Given the description of an element on the screen output the (x, y) to click on. 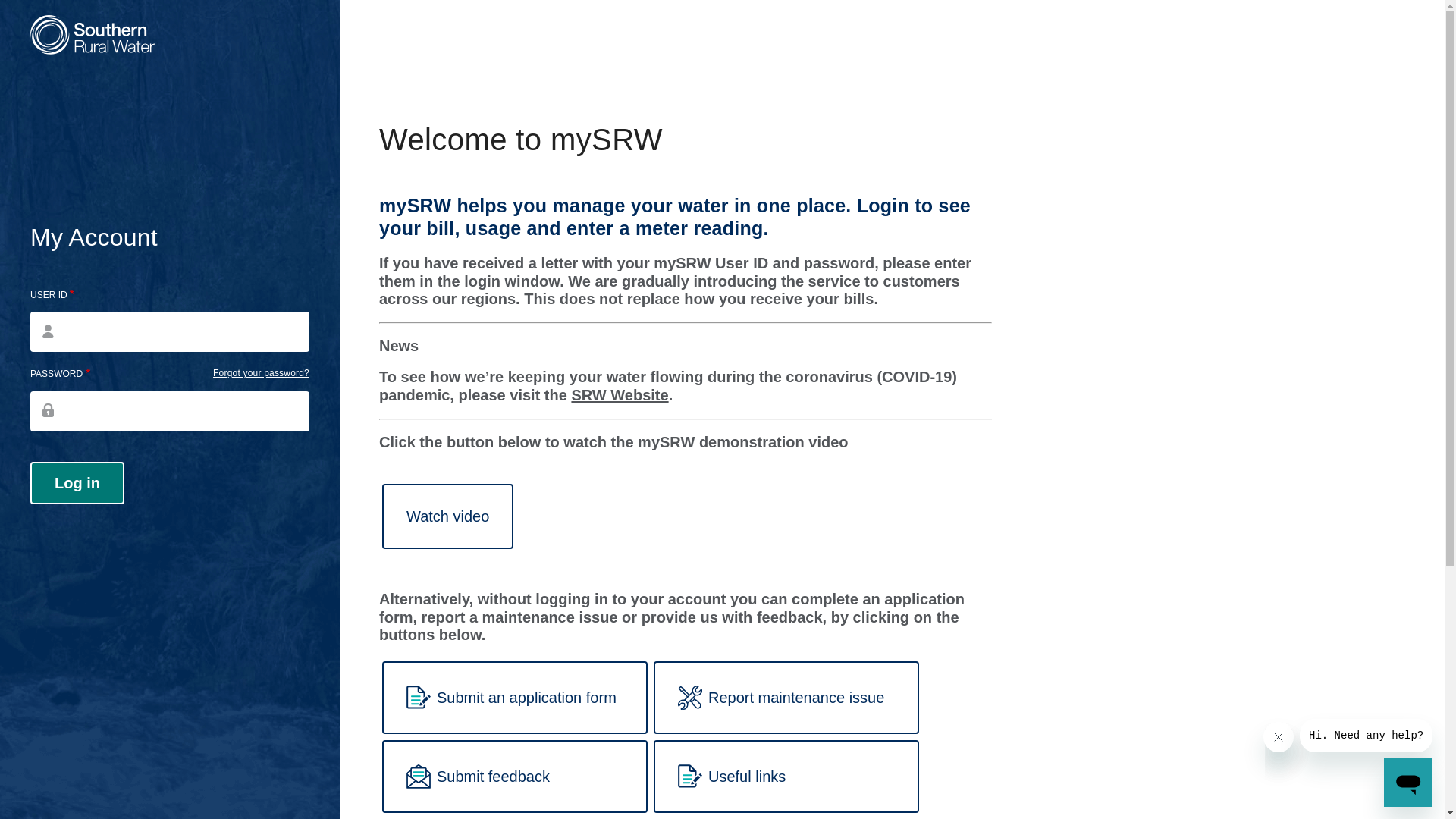
Message from company Element type: hover (1365, 735)
Home Element type: hover (92, 36)
Report maintenance issue Element type: text (786, 697)
Submit feedback Element type: text (514, 776)
Close message Element type: hover (1278, 736)
Watch video Element type: text (447, 516)
Forgot your password? Element type: text (261, 372)
Log in Element type: text (77, 482)
Useful links Element type: text (786, 776)
SRW Website Element type: text (619, 394)
Submit an application form Element type: text (514, 697)
Button to launch messaging window Element type: hover (1407, 782)
